Given the description of an element on the screen output the (x, y) to click on. 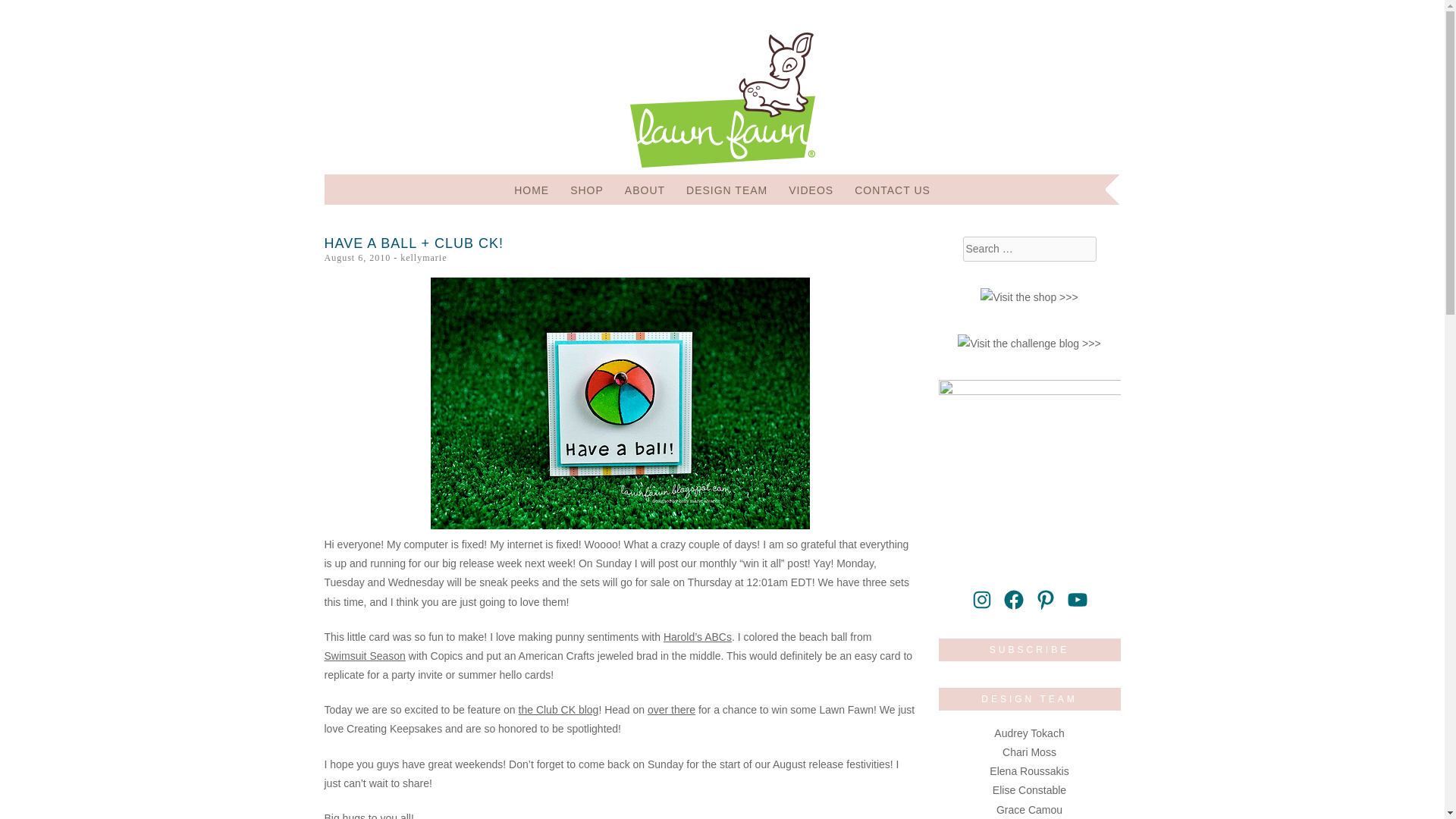
kellymarie (423, 257)
HOME (530, 190)
Facebook (1014, 599)
Audrey Tokach (1029, 733)
VIDEOS (810, 190)
Search (29, 12)
Swimsuit Season (365, 655)
DESIGN TEAM (726, 190)
ABOUT (644, 190)
CONTACT US (892, 190)
LAWN FAWN (467, 61)
the Club CK blog (558, 709)
Pinterest (1045, 599)
Instagram (981, 599)
